Given the description of an element on the screen output the (x, y) to click on. 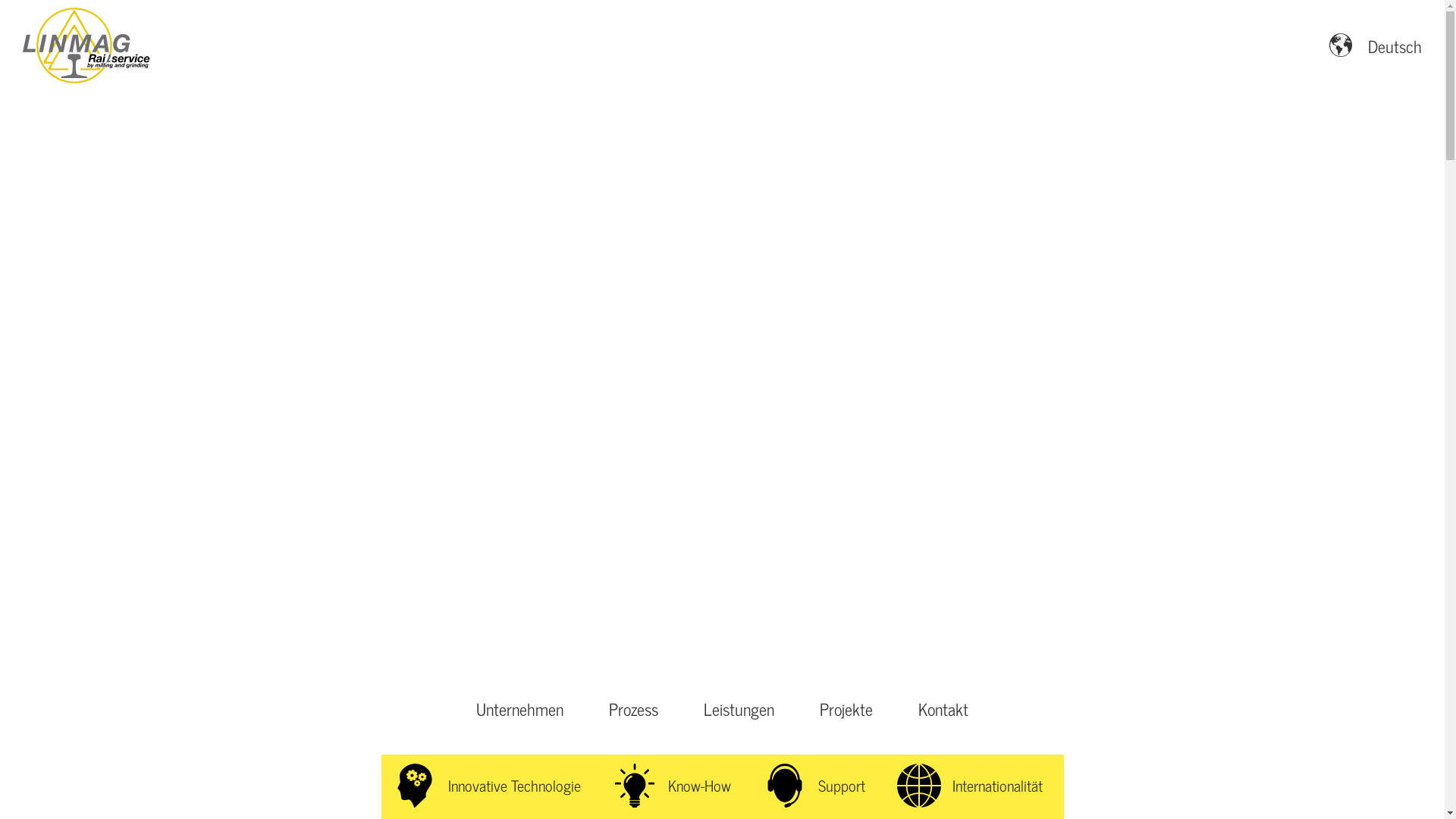
Linmag GmbH Element type: text (86, 45)
Deutsch Element type: text (1375, 45)
Projekte Element type: text (846, 708)
Prozess Element type: text (633, 708)
Leistungen Element type: text (738, 708)
Unternehmen Element type: text (519, 708)
Kontakt Element type: text (943, 708)
